Given the description of an element on the screen output the (x, y) to click on. 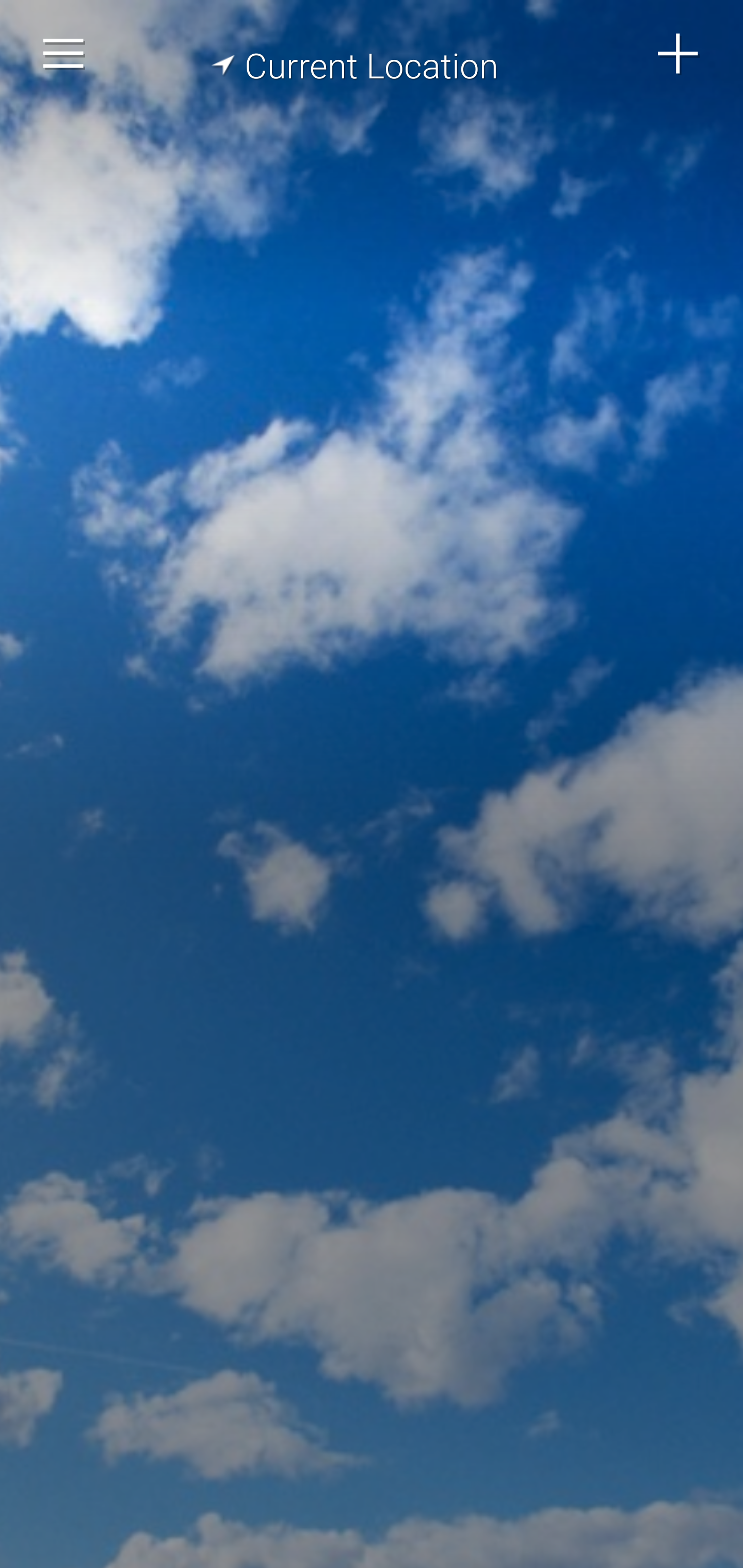
Sidebar (64, 54)
Add City (678, 53)
